Given the description of an element on the screen output the (x, y) to click on. 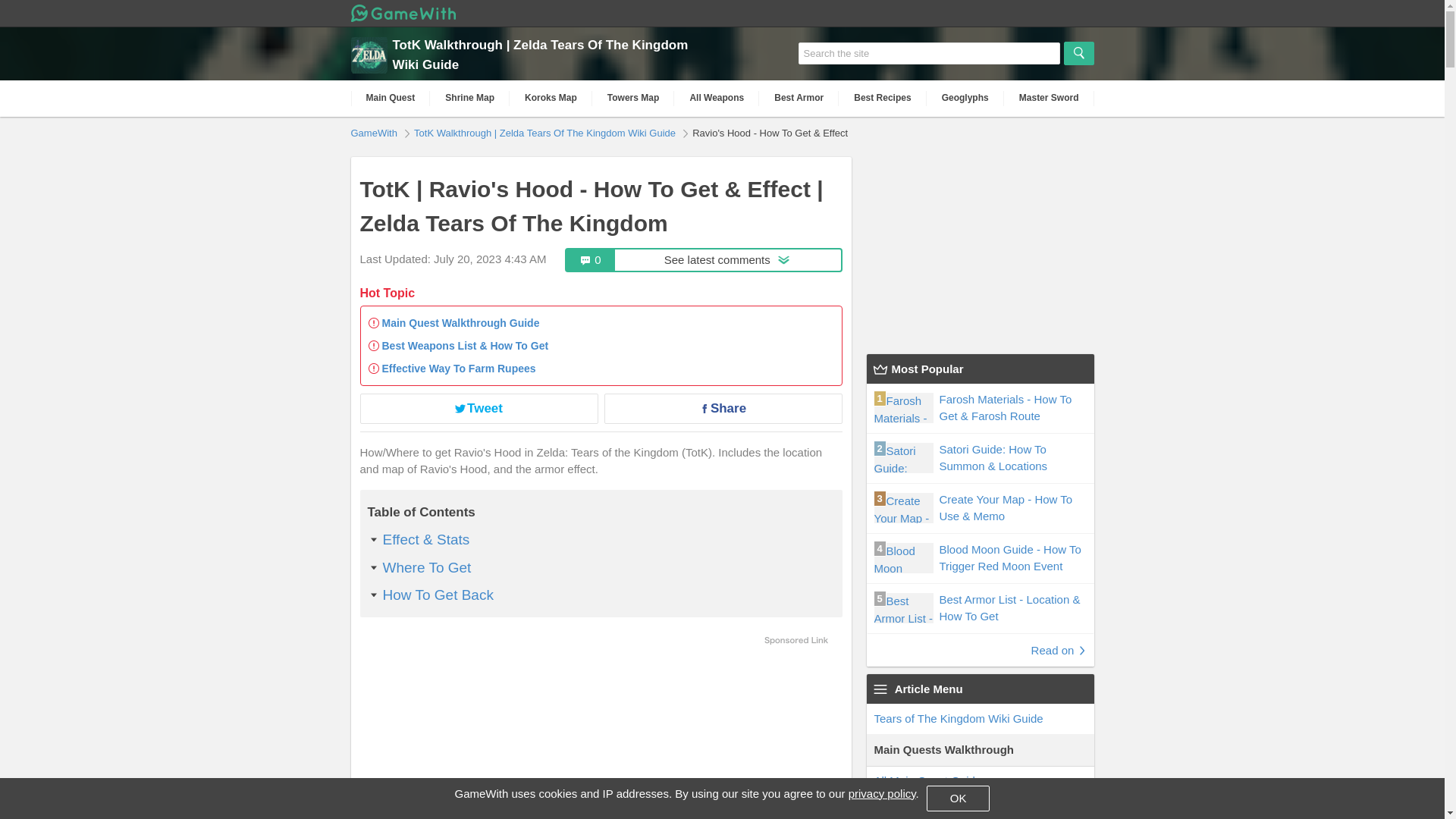
Main Quest Walkthrough Guide (460, 322)
Share (722, 408)
privacy policy (881, 793)
Best Armor (798, 98)
All Weapons (716, 98)
Geoglyphs (965, 98)
GameWith (375, 132)
Effective Way To Farm Rupees (458, 368)
How To Get Back (437, 594)
